Given the description of an element on the screen output the (x, y) to click on. 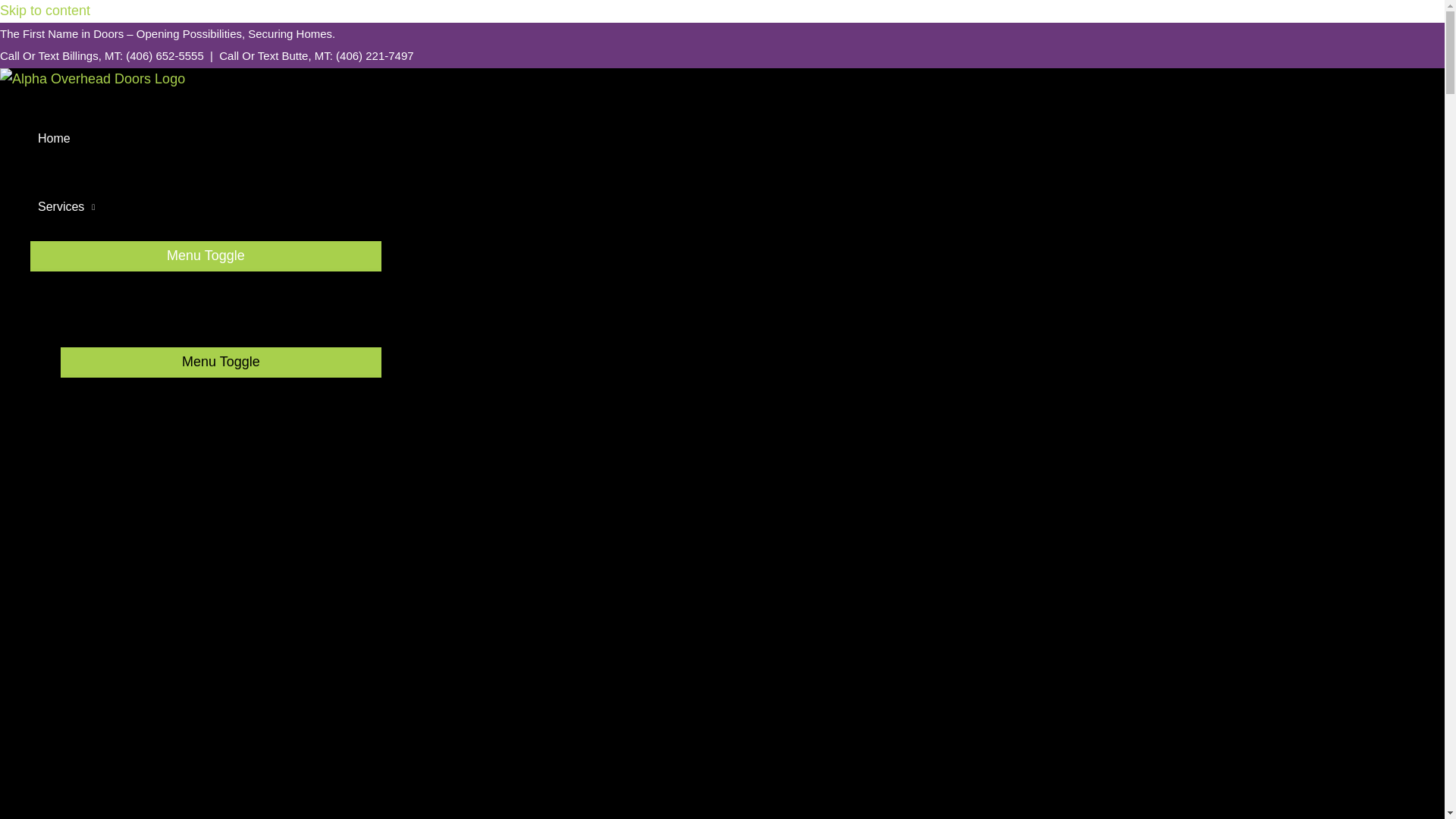
Garage Door Spring Repair (235, 415)
Garage Door Off-Track Repair (235, 567)
Menu Toggle (221, 361)
Skip to content (45, 10)
Garage Door Opener Installation (221, 787)
Home (205, 138)
Skip to content (45, 10)
Garage Door Installation (221, 642)
Services (205, 206)
Menu Toggle (205, 255)
